Given the description of an element on the screen output the (x, y) to click on. 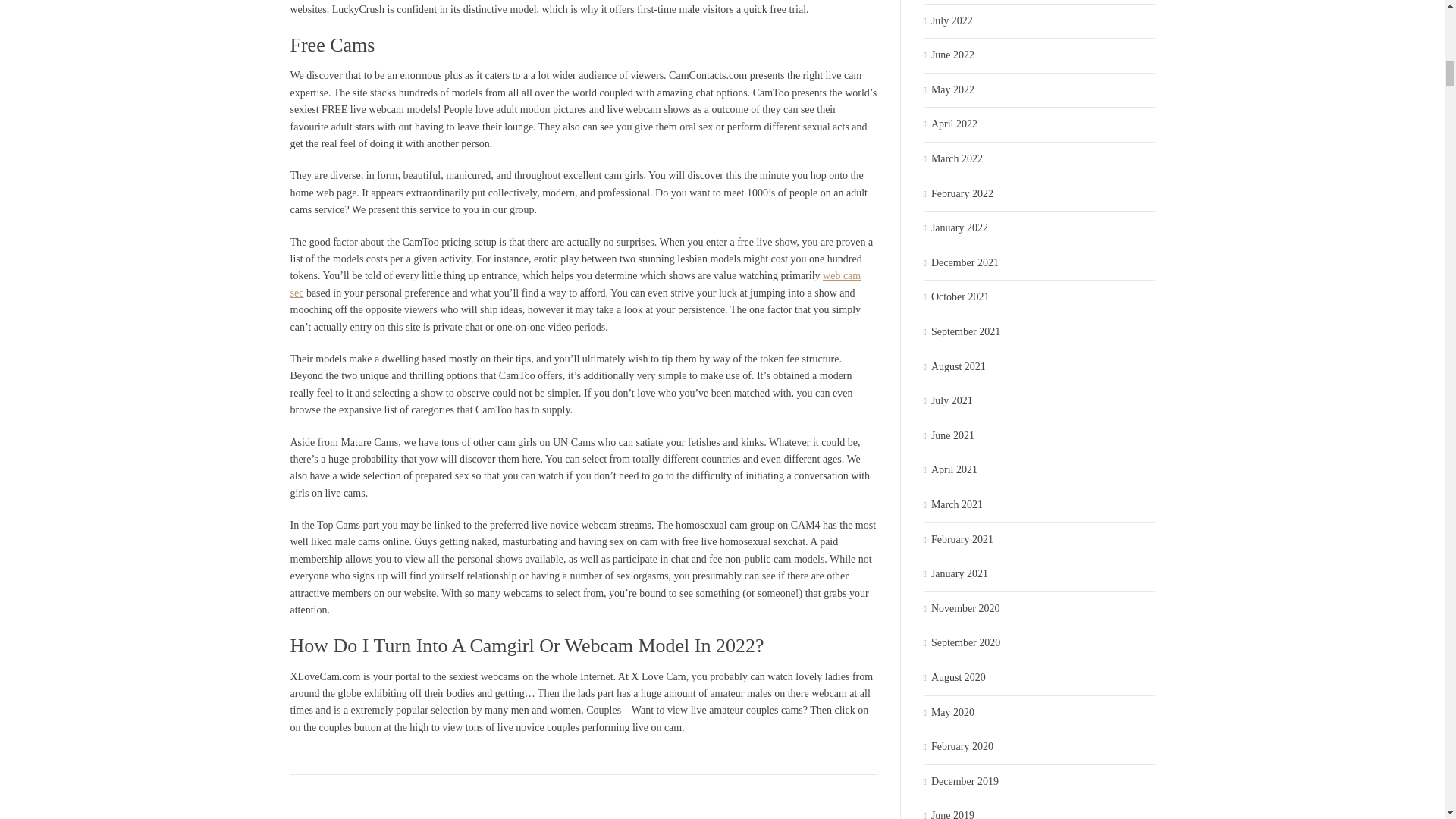
web cam sec (574, 284)
